Given the description of an element on the screen output the (x, y) to click on. 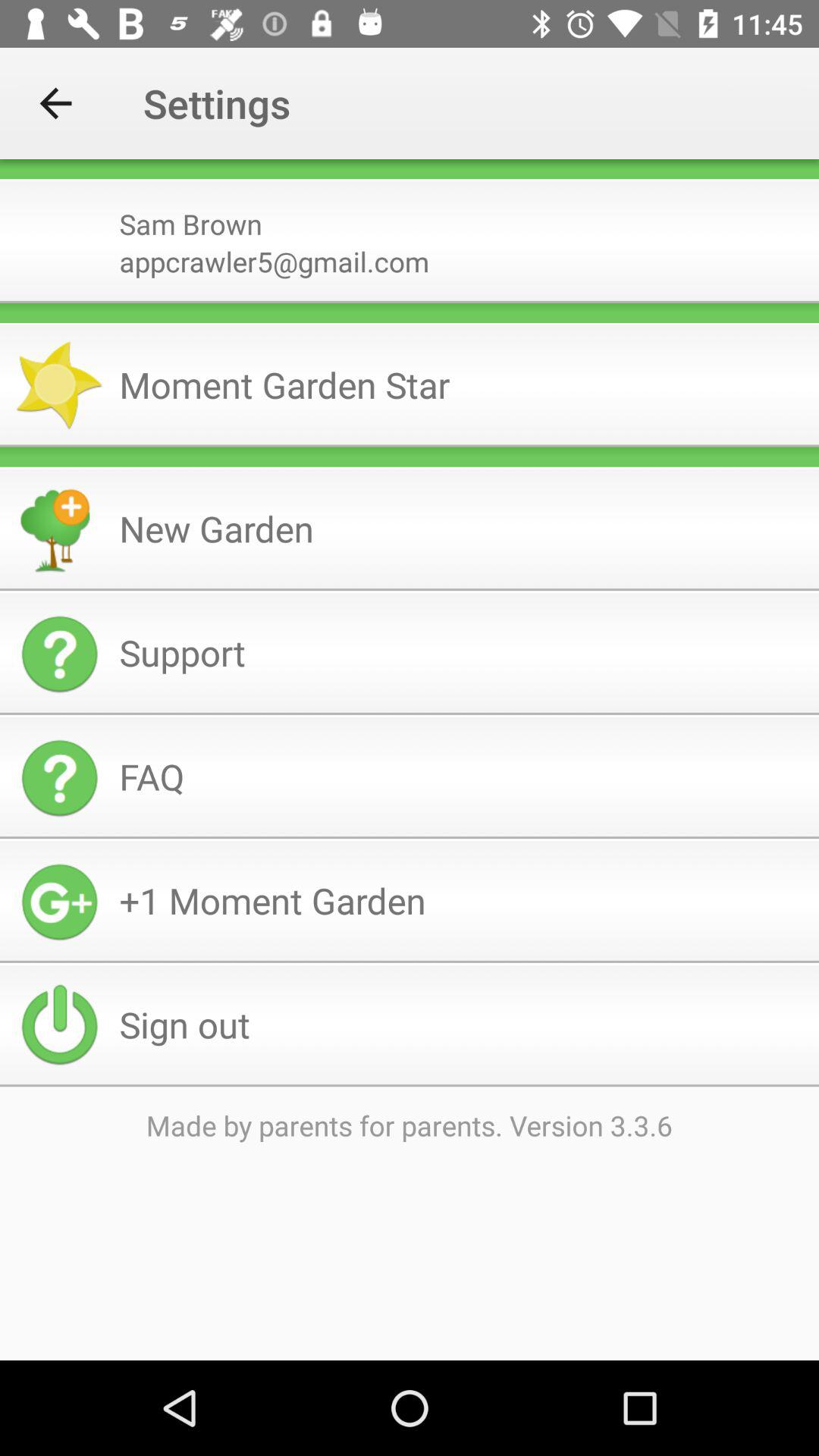
click item above appcrawler5@gmail.com (463, 217)
